Given the description of an element on the screen output the (x, y) to click on. 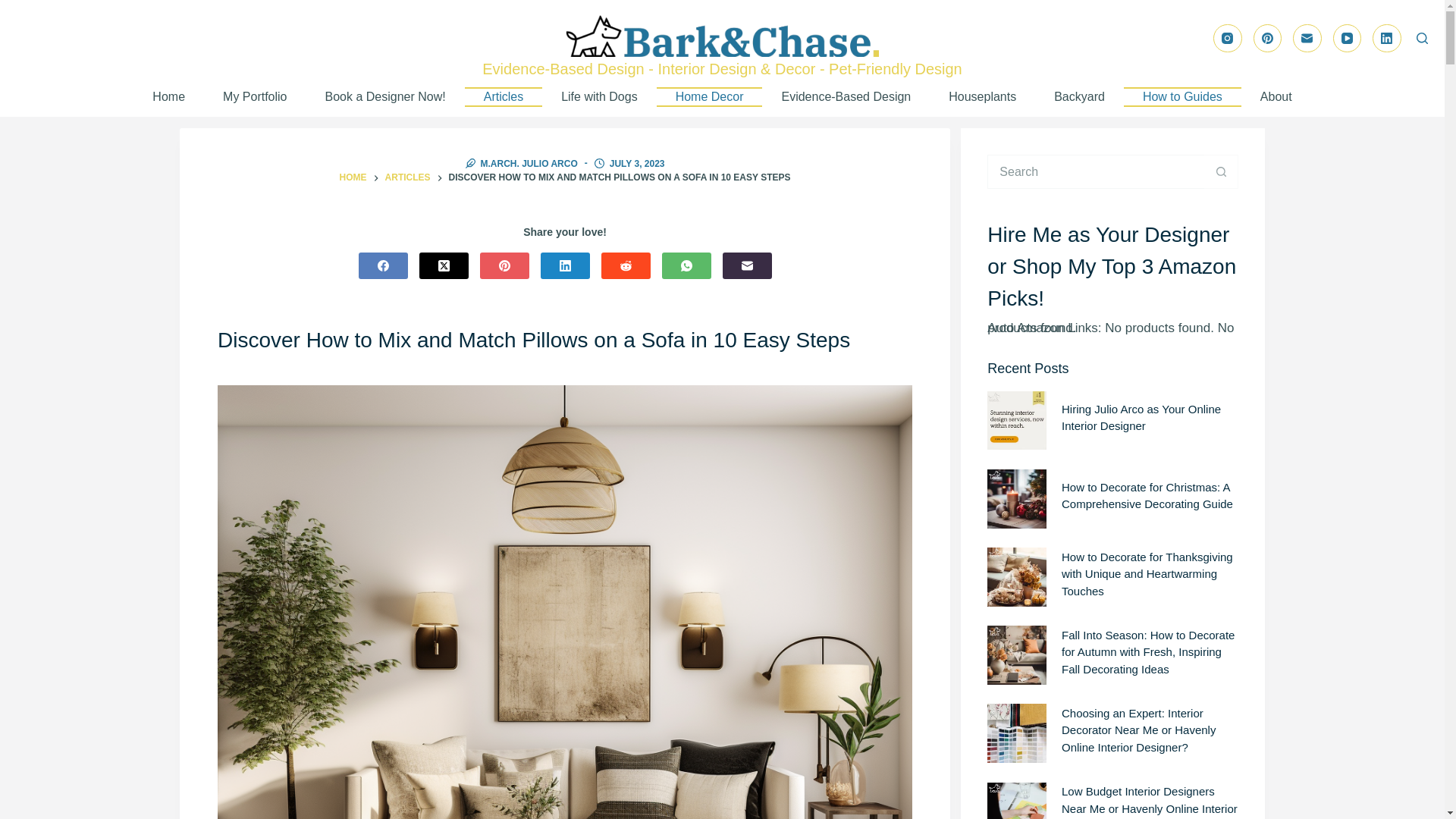
Search for... (1095, 171)
How to Guides (1182, 96)
Evidence-Based Design (845, 96)
Backyard (1079, 96)
Articles (502, 96)
Home Decor (709, 96)
Skip to content (15, 7)
Life with Dogs (598, 96)
My Portfolio (254, 96)
About (1276, 96)
